Given the description of an element on the screen output the (x, y) to click on. 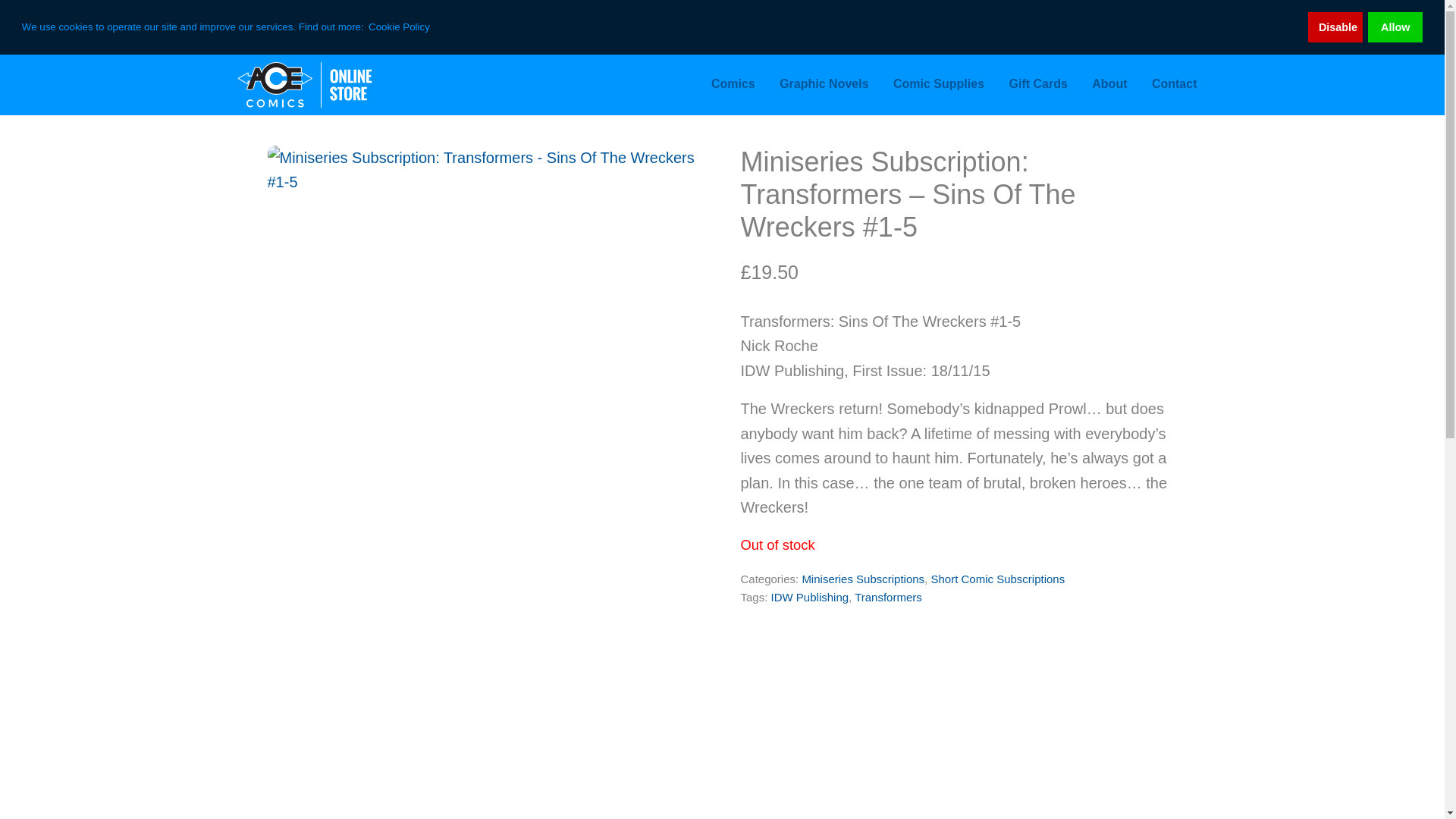
Disable (1334, 27)
Graphic Novels (823, 84)
Short Comic Subscriptions (997, 578)
Ace Comics (334, 84)
Miniseries Subscriptions (863, 578)
Comics (732, 84)
About (1109, 84)
Contact Us (1174, 84)
Gift Cards (1037, 84)
Comic Supplies (938, 84)
IDW Publishing (809, 596)
About ACE Comics (1109, 84)
Transformers (887, 596)
Contact (1174, 84)
